Given the description of an element on the screen output the (x, y) to click on. 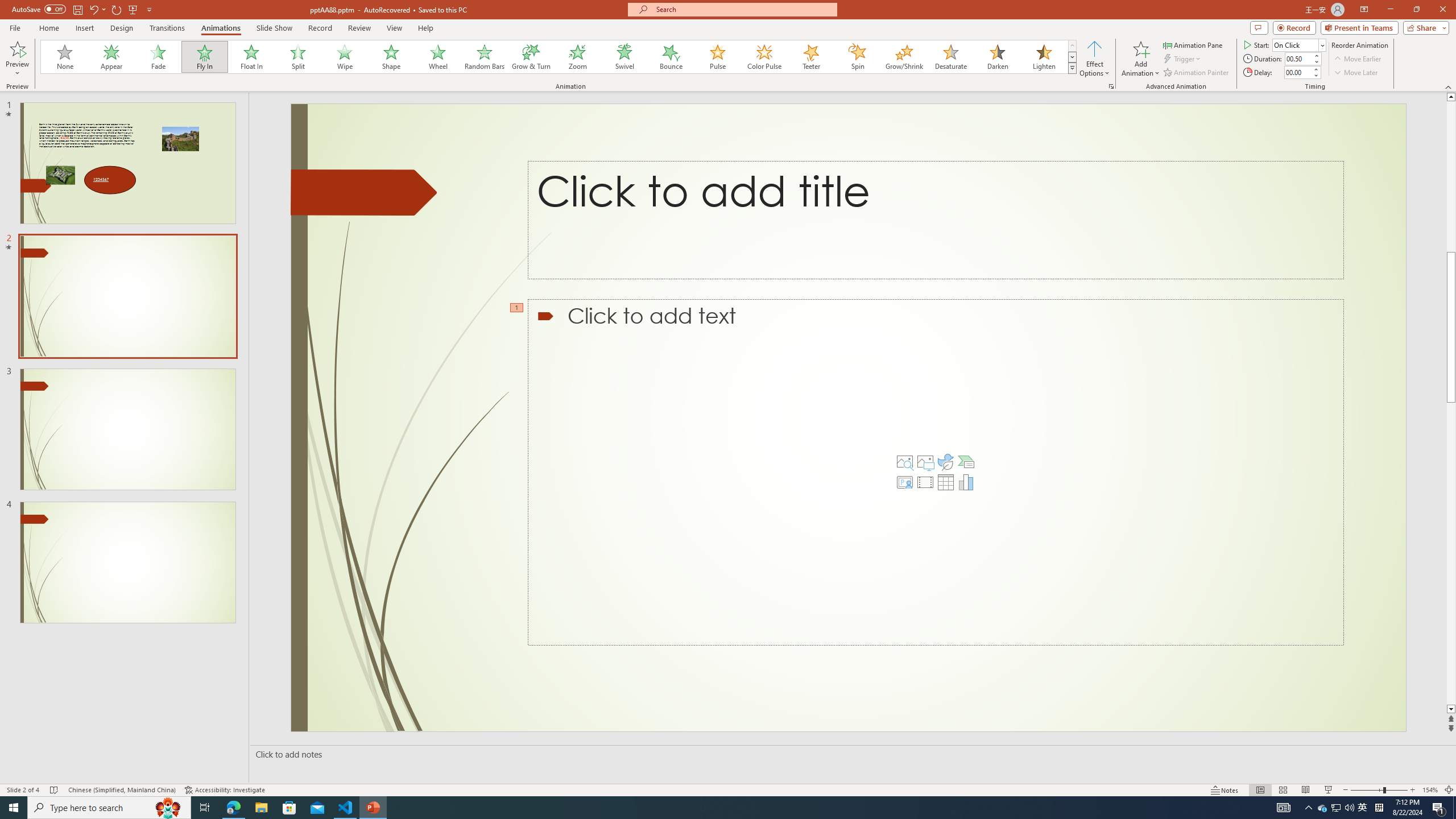
Shape (391, 56)
Insert Table (945, 482)
Split (298, 56)
Effect Options (1094, 58)
Color Pulse (764, 56)
Zoom 154% (1430, 790)
Pulse (717, 56)
Insert Cameo (904, 482)
